Given the description of an element on the screen output the (x, y) to click on. 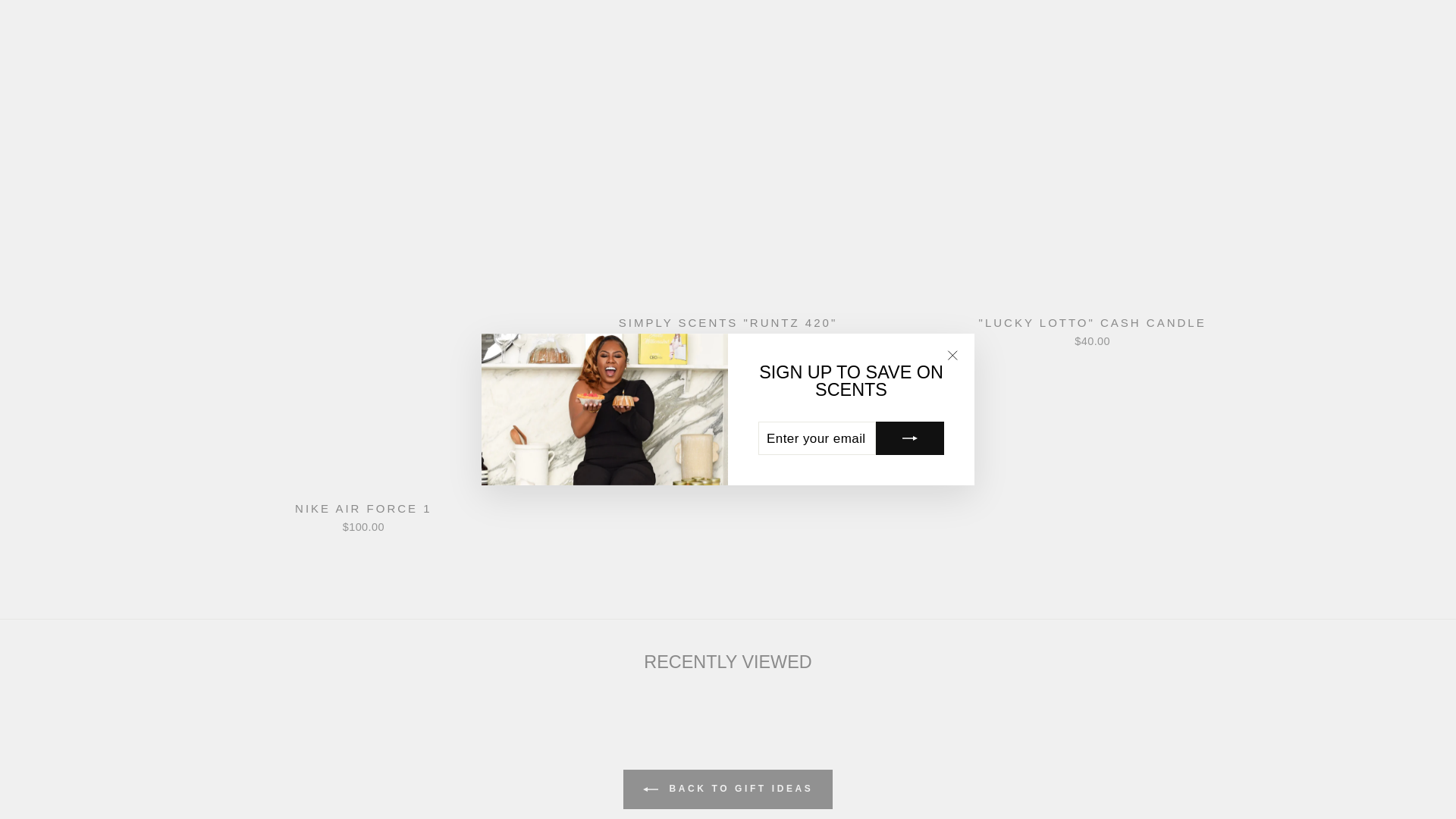
ICON-LEFT-ARROW (650, 789)
